Given the description of an element on the screen output the (x, y) to click on. 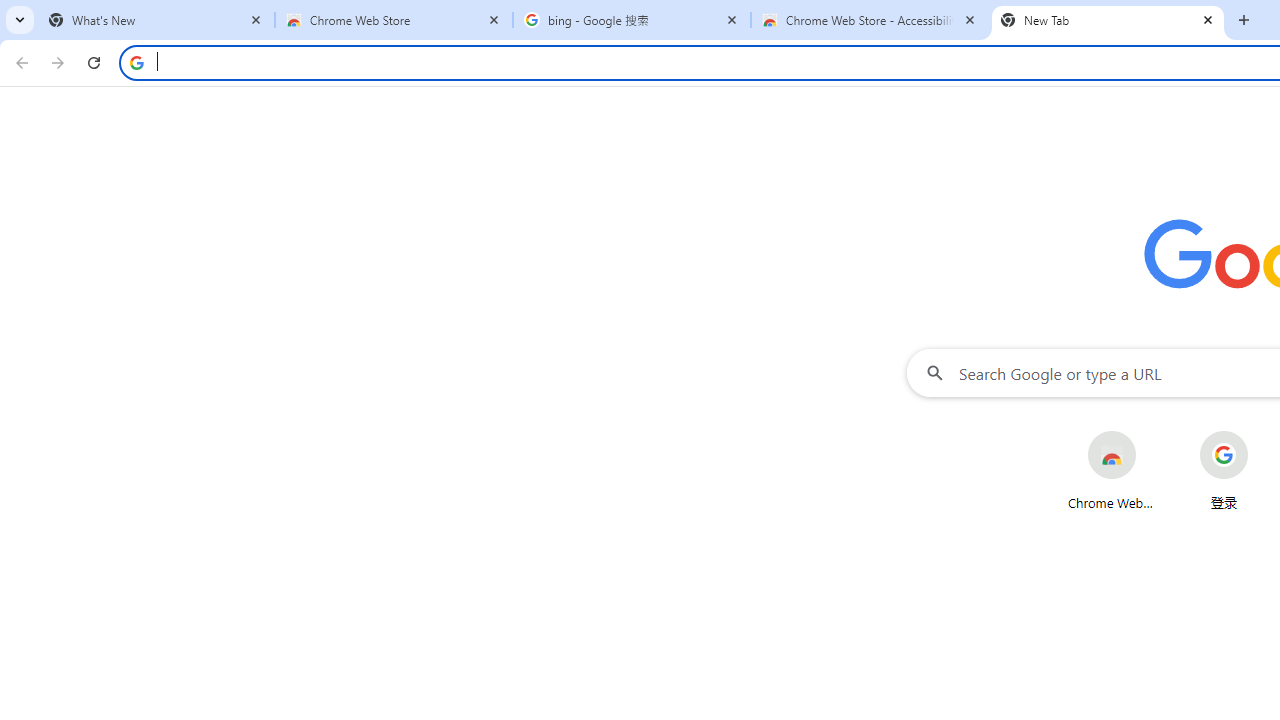
More actions for Chrome Web Store shortcut (1151, 433)
